Given the description of an element on the screen output the (x, y) to click on. 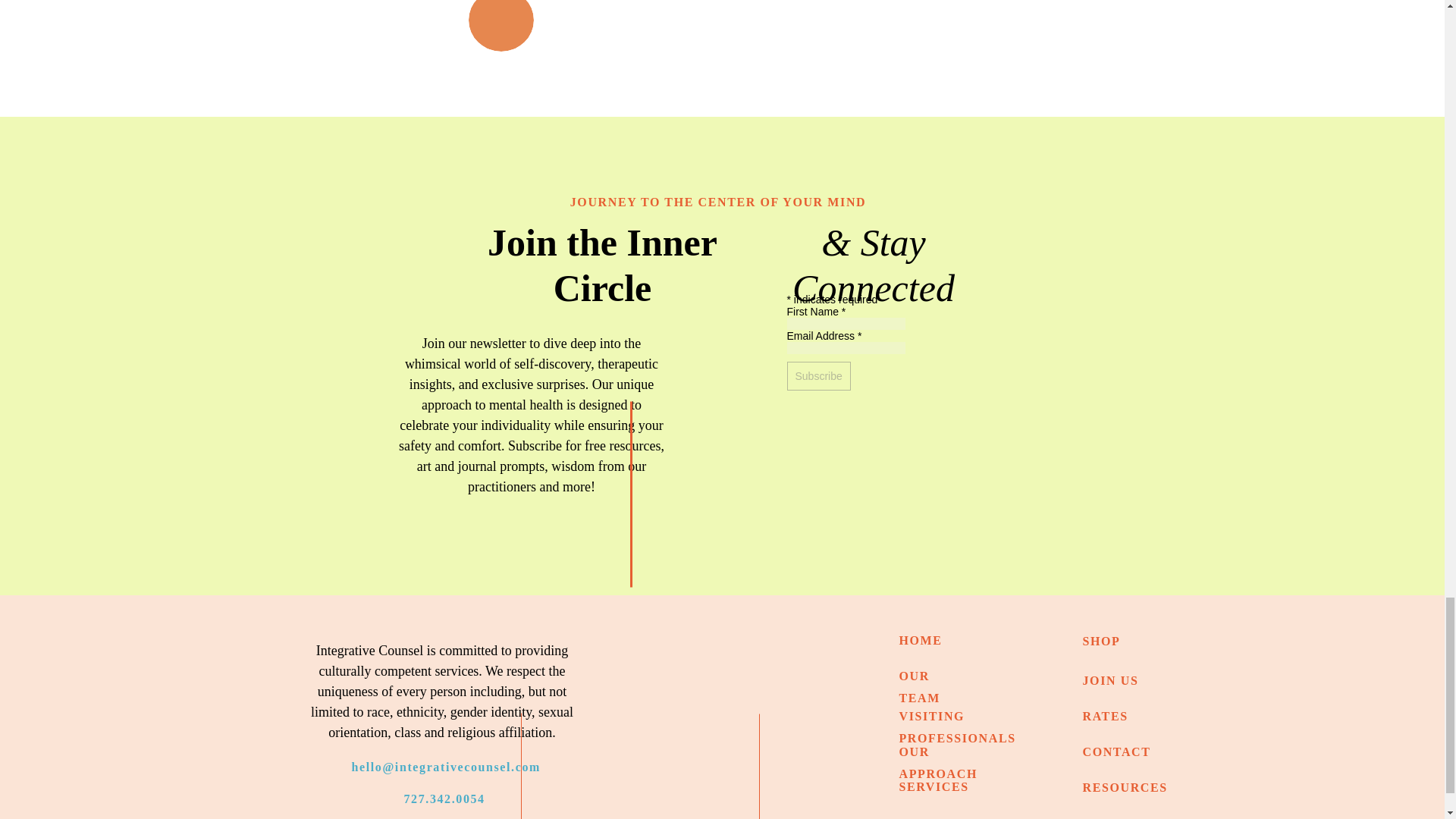
Subscribe (818, 375)
